Given the description of an element on the screen output the (x, y) to click on. 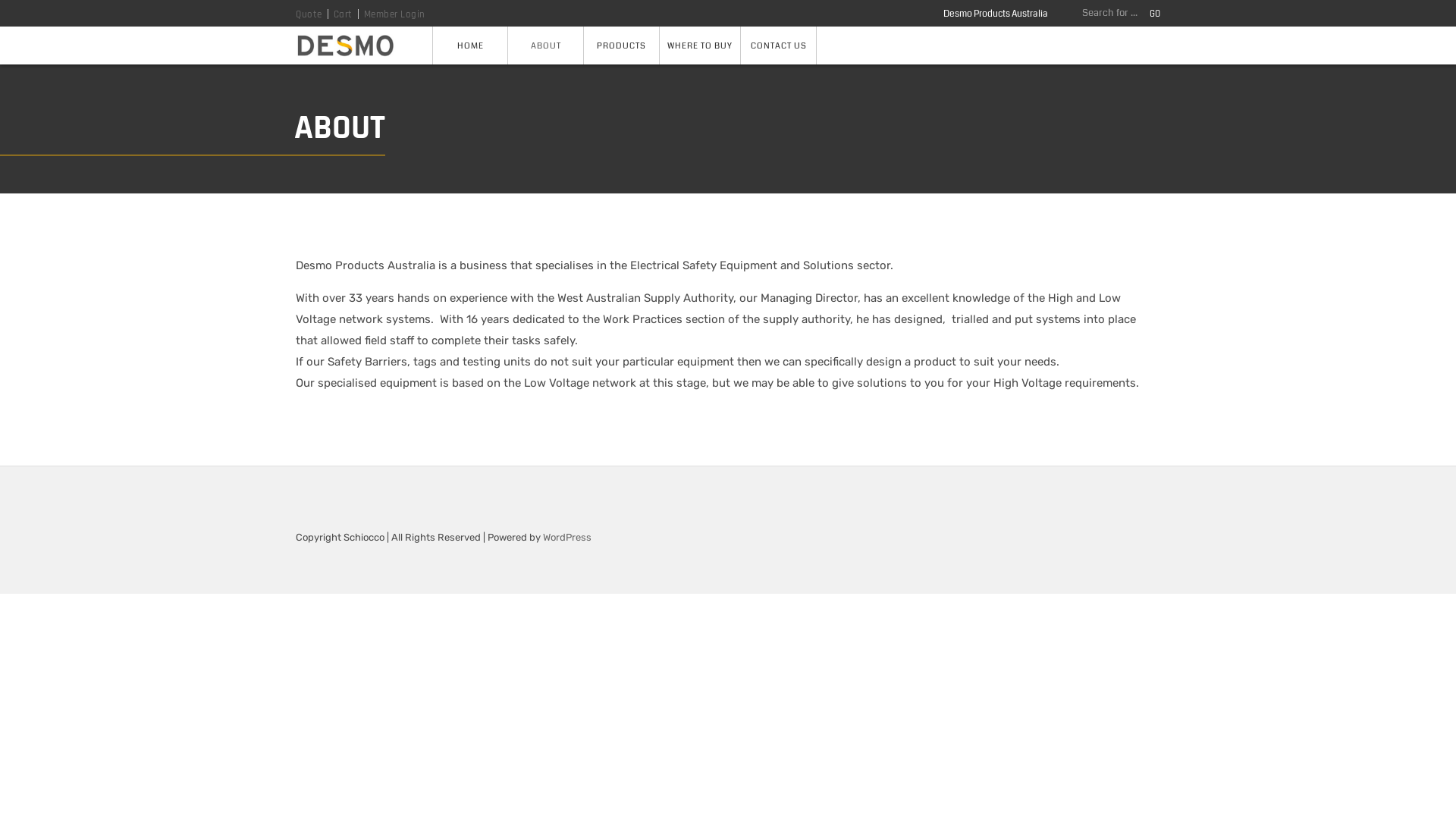
CONTACT US Element type: text (778, 45)
GO Element type: text (1154, 13)
HOME Element type: text (470, 45)
Cart Element type: text (342, 14)
Member Login Element type: text (394, 14)
WHERE TO BUY Element type: text (699, 45)
PRODUCTS Element type: text (621, 45)
WordPress Element type: text (566, 536)
Quote Element type: text (308, 14)
ABOUT Element type: text (545, 45)
